Given the description of an element on the screen output the (x, y) to click on. 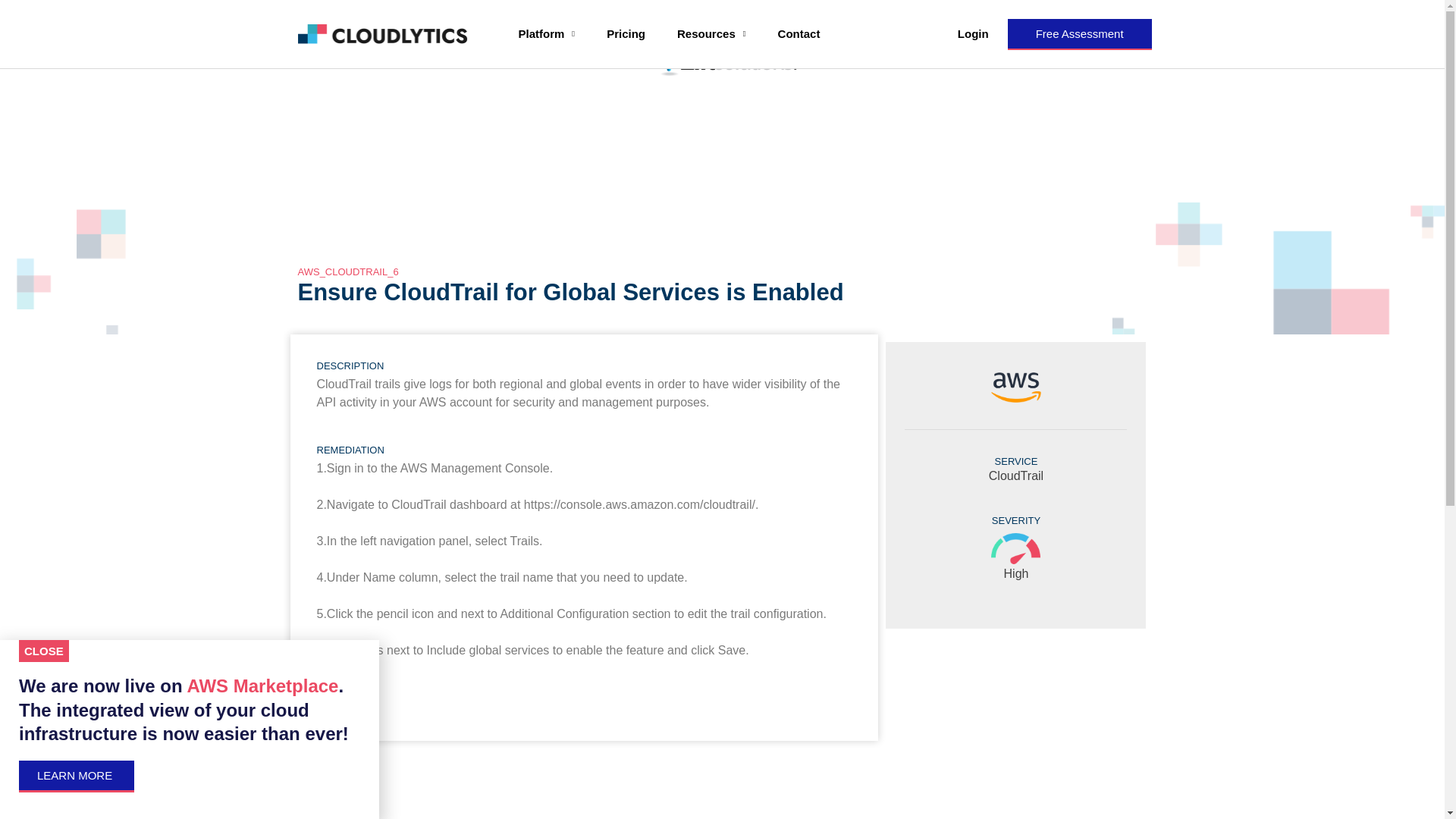
Contact (798, 33)
Pricing (626, 33)
Resources (711, 33)
Platform (546, 33)
Login (973, 33)
Free Assessment (1079, 33)
